Given the description of an element on the screen output the (x, y) to click on. 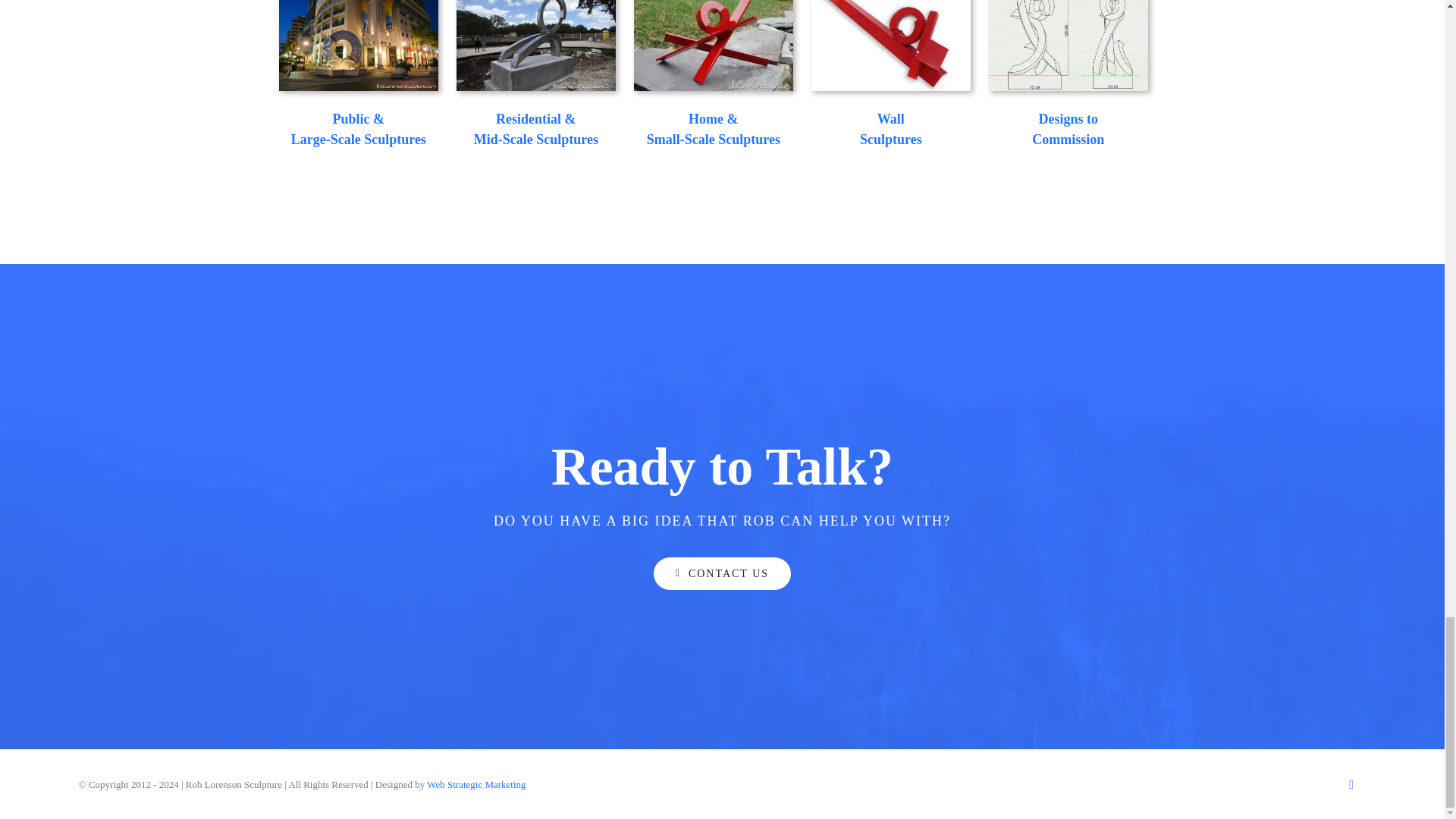
commissioned-designs (1068, 45)
red abstract outdoor metal sculpture (713, 45)
metal wall sculptures (890, 45)
